Given the description of an element on the screen output the (x, y) to click on. 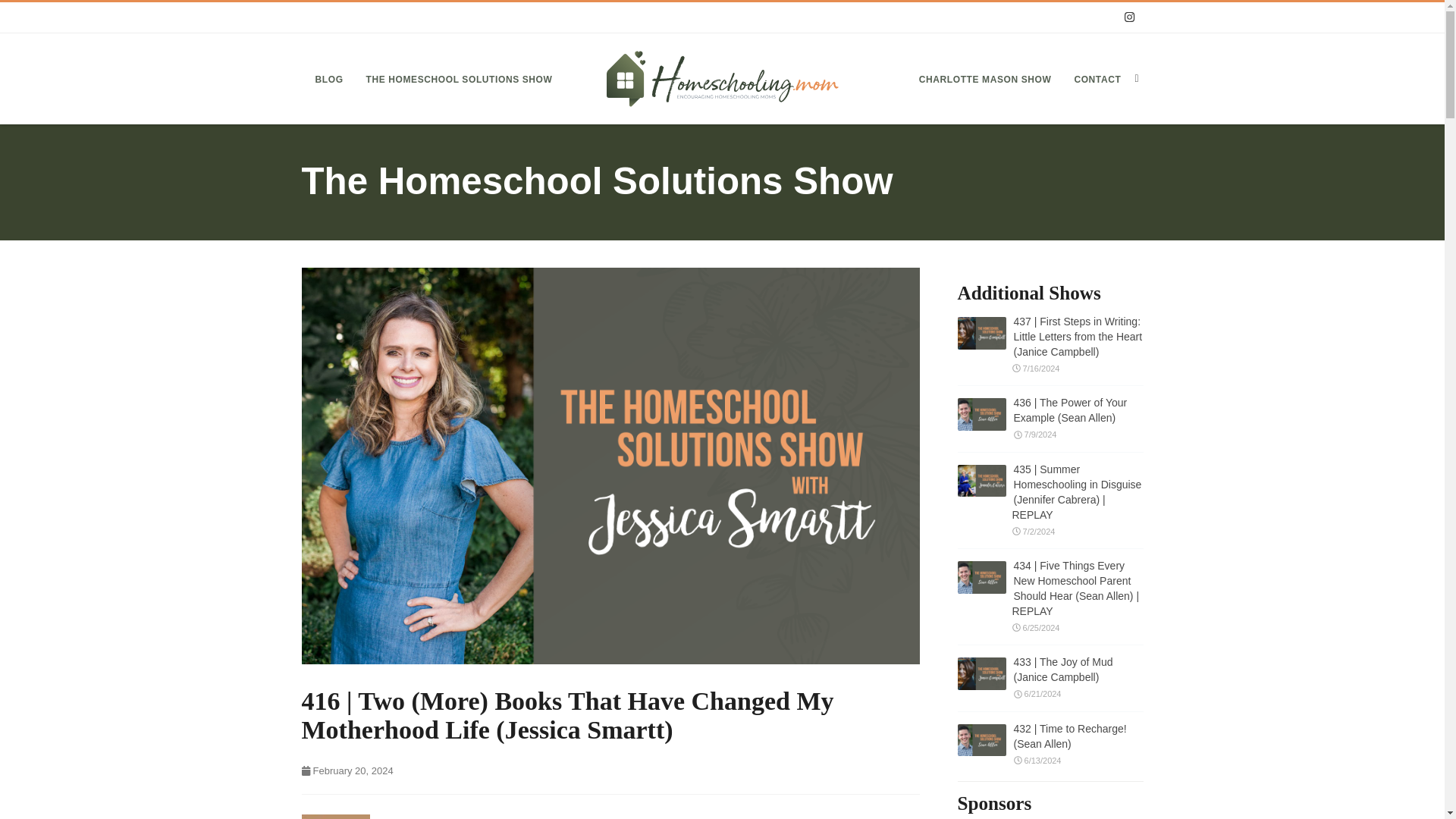
THE HOMESCHOOL SOLUTIONS SHOW (459, 79)
BLOG (328, 79)
CHARLOTTE MASON SHOW (985, 79)
CONTACT (1096, 79)
